Given the description of an element on the screen output the (x, y) to click on. 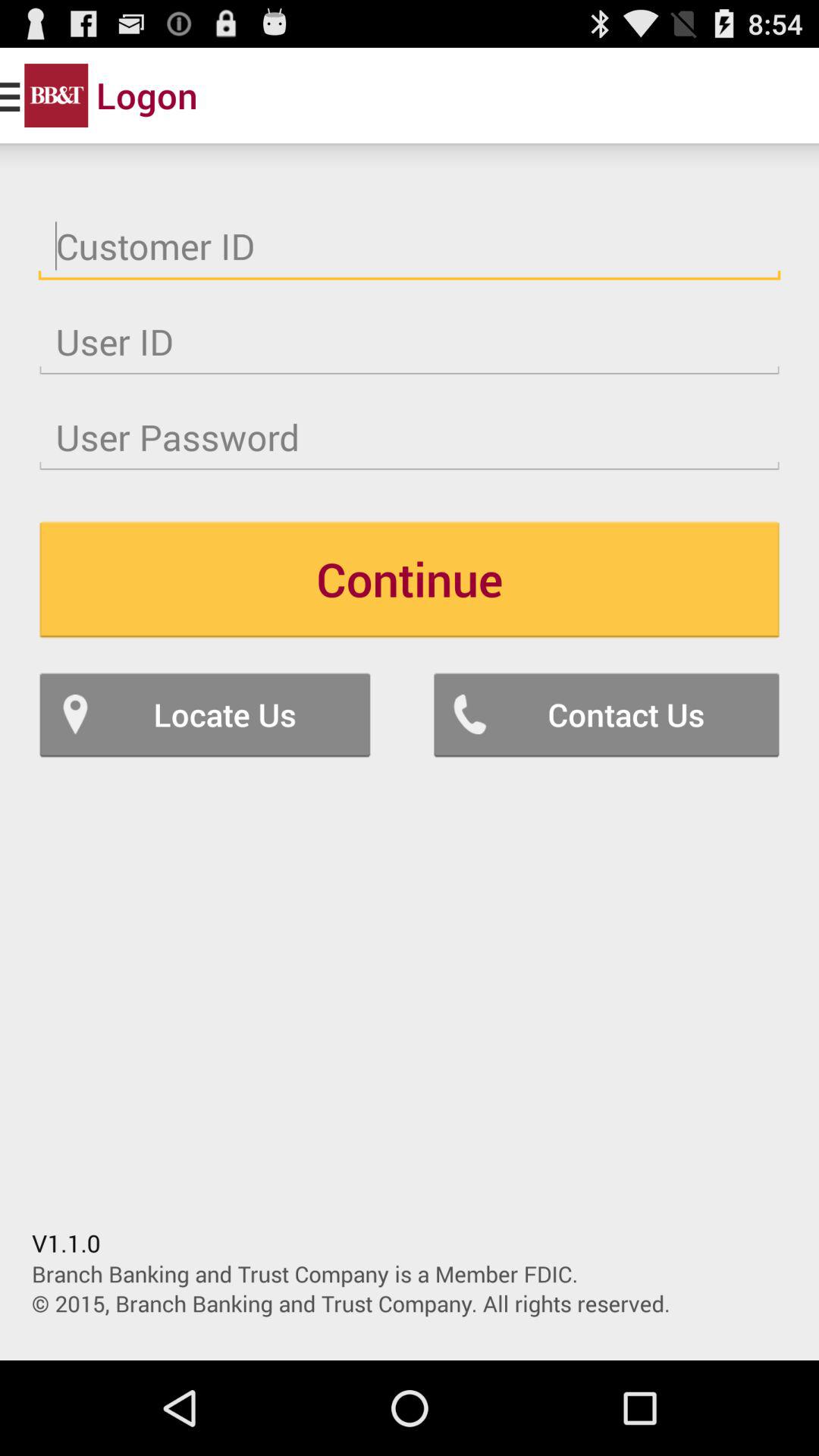
open locate us on the left (204, 714)
